Given the description of an element on the screen output the (x, y) to click on. 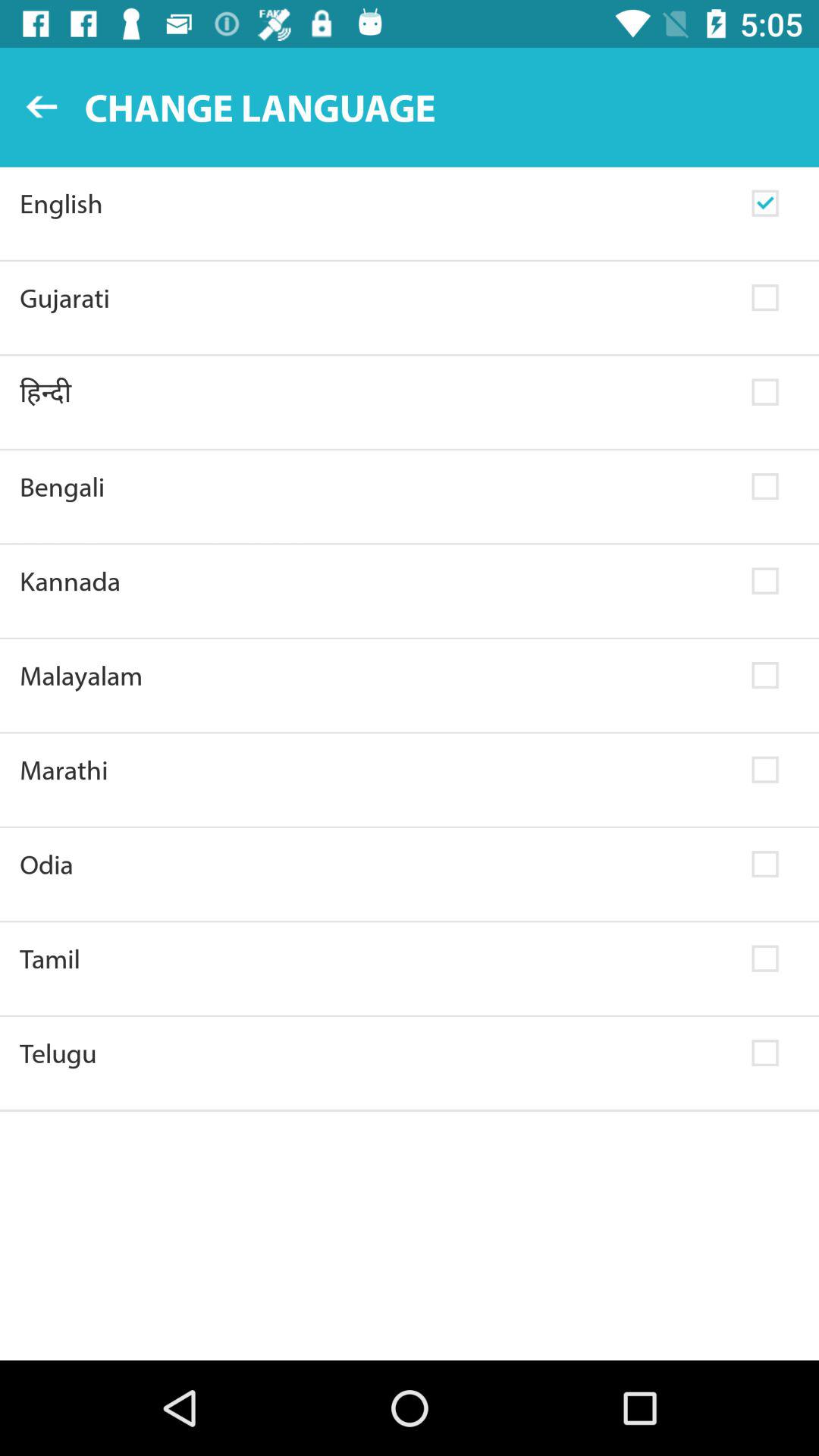
select the tamil (375, 958)
